Given the description of an element on the screen output the (x, y) to click on. 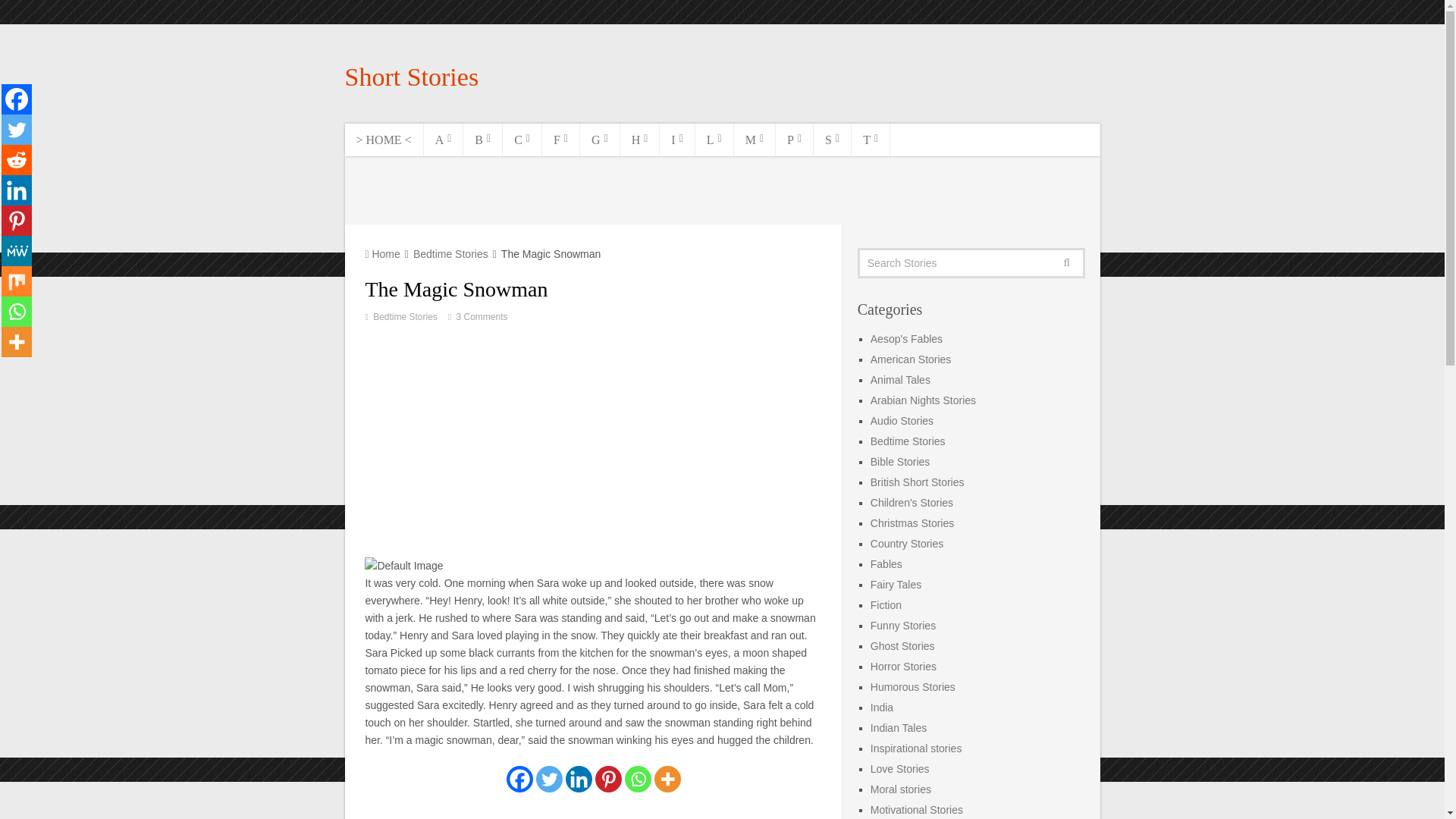
G (599, 139)
View all posts in Bedtime Stories (405, 317)
S (832, 139)
Facebook (16, 99)
Twitter (548, 778)
M (754, 139)
More (16, 341)
Twitter (16, 129)
Whatsapp (16, 311)
C (521, 139)
